Given the description of an element on the screen output the (x, y) to click on. 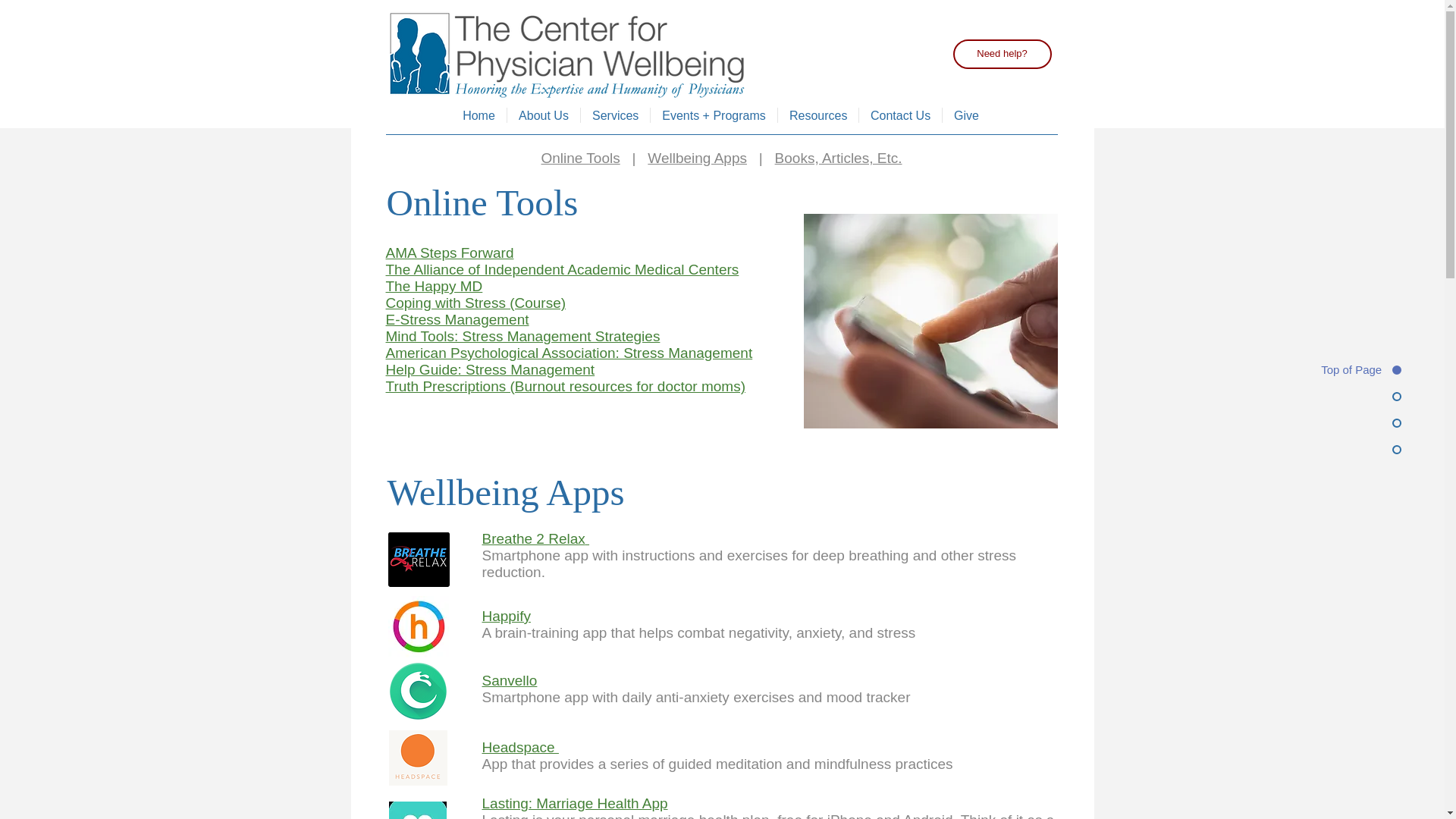
Help Guide: Stress Management (489, 369)
Home (478, 114)
Online Tools (580, 157)
Wellbeing Apps (696, 157)
Need help? (1001, 53)
The Happy MD (433, 286)
AMA Steps Forward (449, 252)
Services (614, 114)
E-Stress Management (456, 319)
About Us (542, 114)
